Given the description of an element on the screen output the (x, y) to click on. 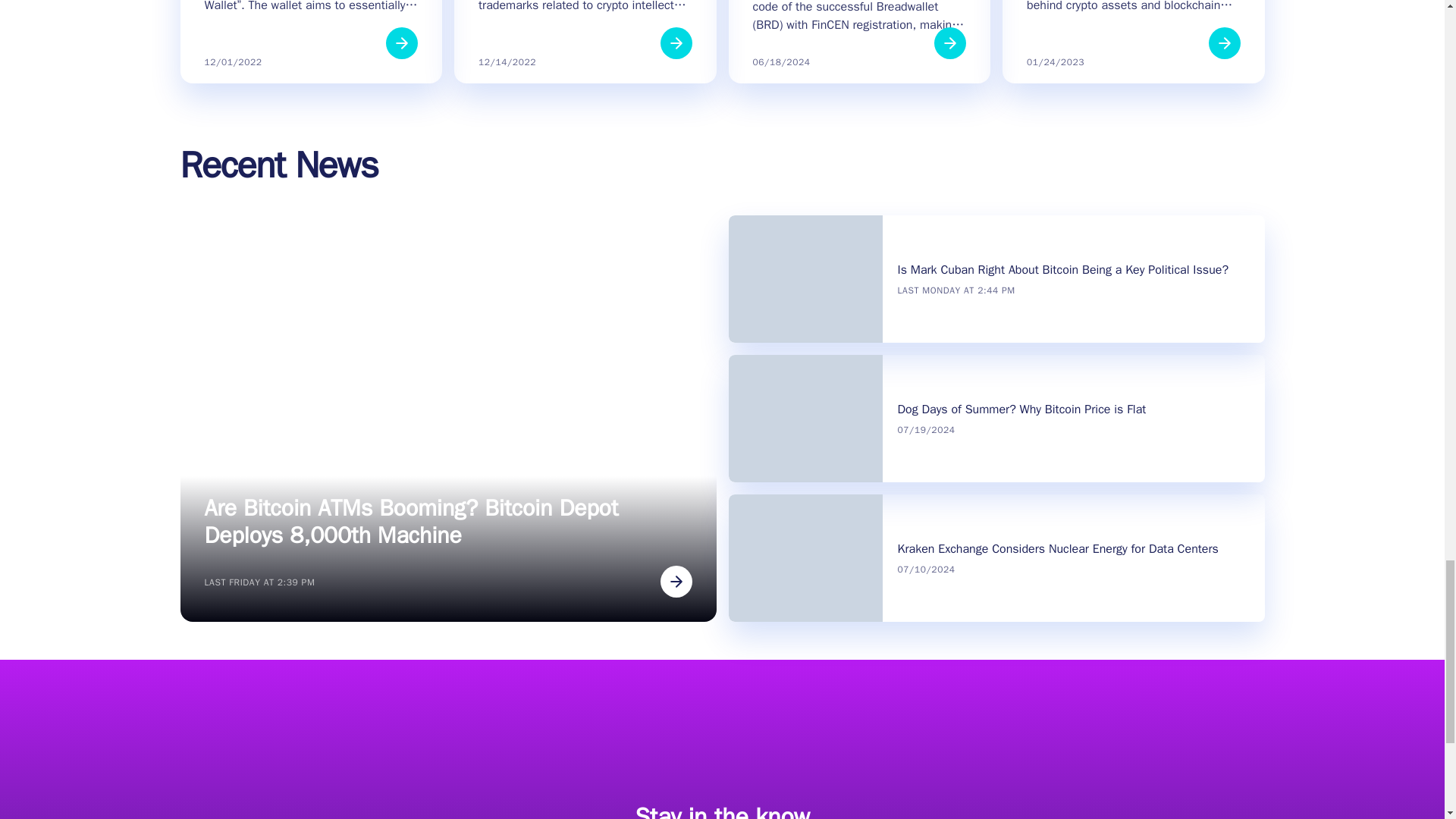
Kraken Exchange Considers Nuclear Energy for Data Centers (1058, 548)
Dog Days of Summer? Why Bitcoin Price is Flat (1022, 409)
